Given the description of an element on the screen output the (x, y) to click on. 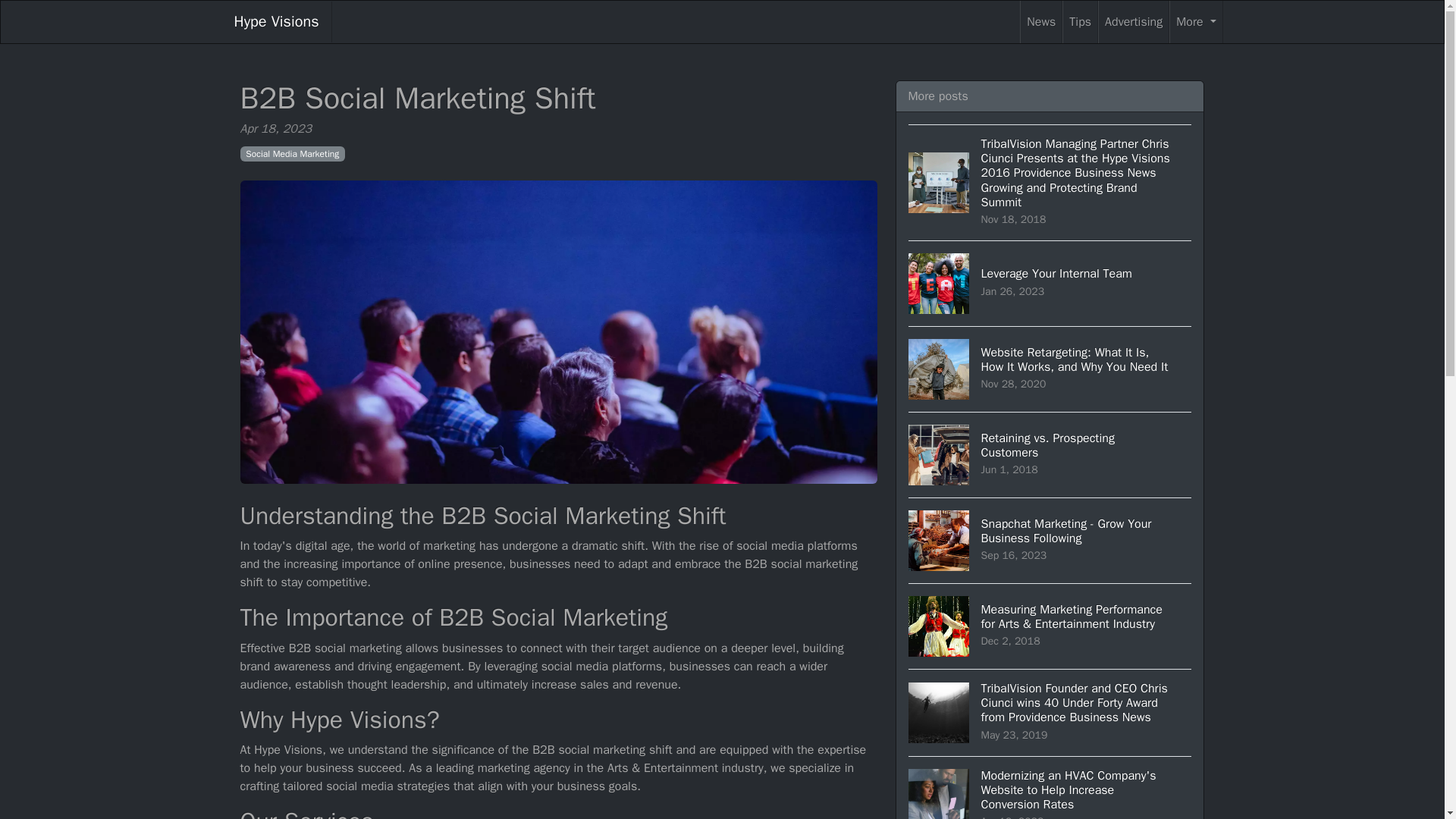
News (1050, 454)
Social Media Marketing (1041, 21)
More (292, 153)
Advertising (1196, 21)
Hype Visions (1133, 21)
